Given the description of an element on the screen output the (x, y) to click on. 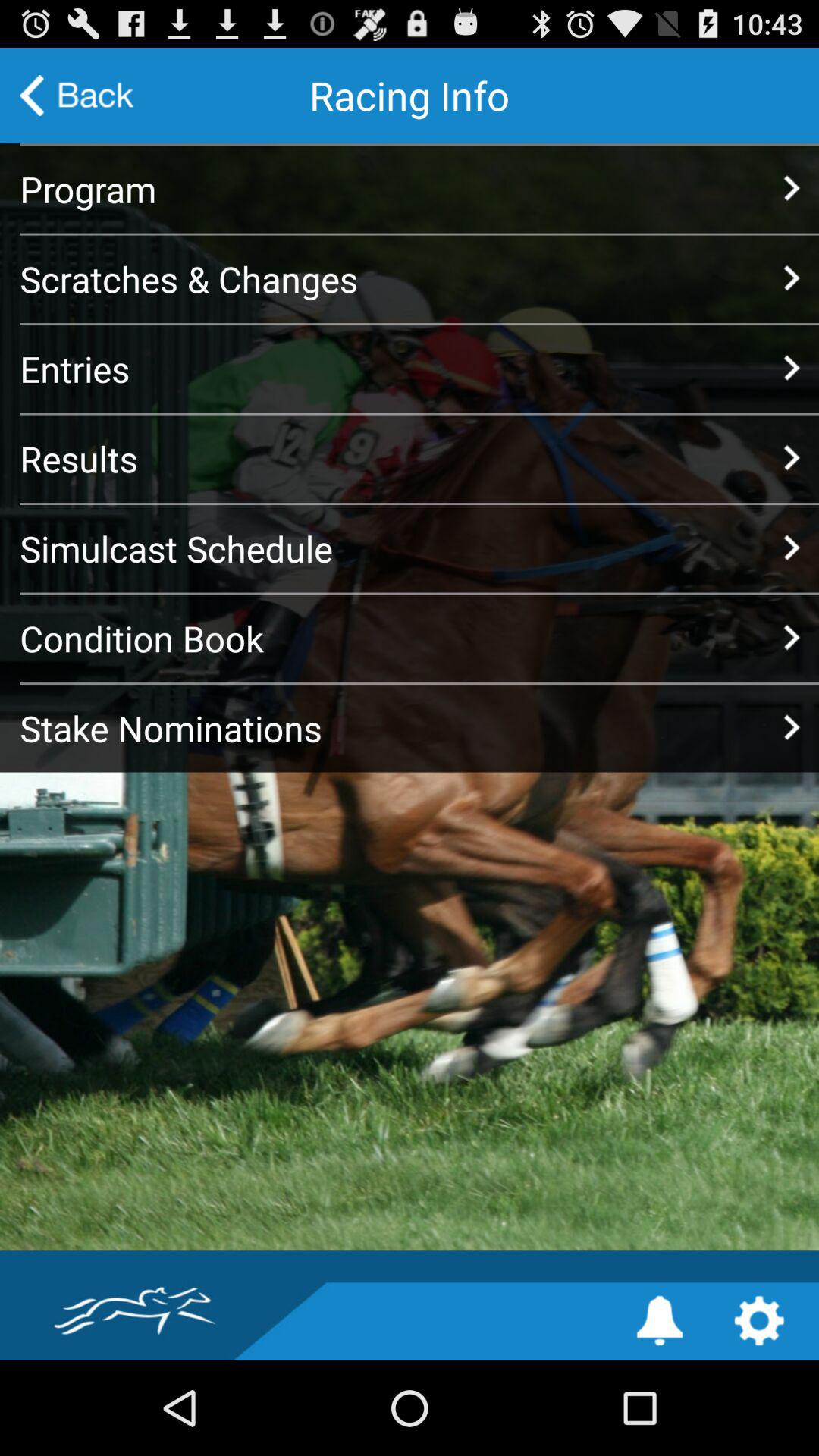
view notification settings (659, 1320)
